Given the description of an element on the screen output the (x, y) to click on. 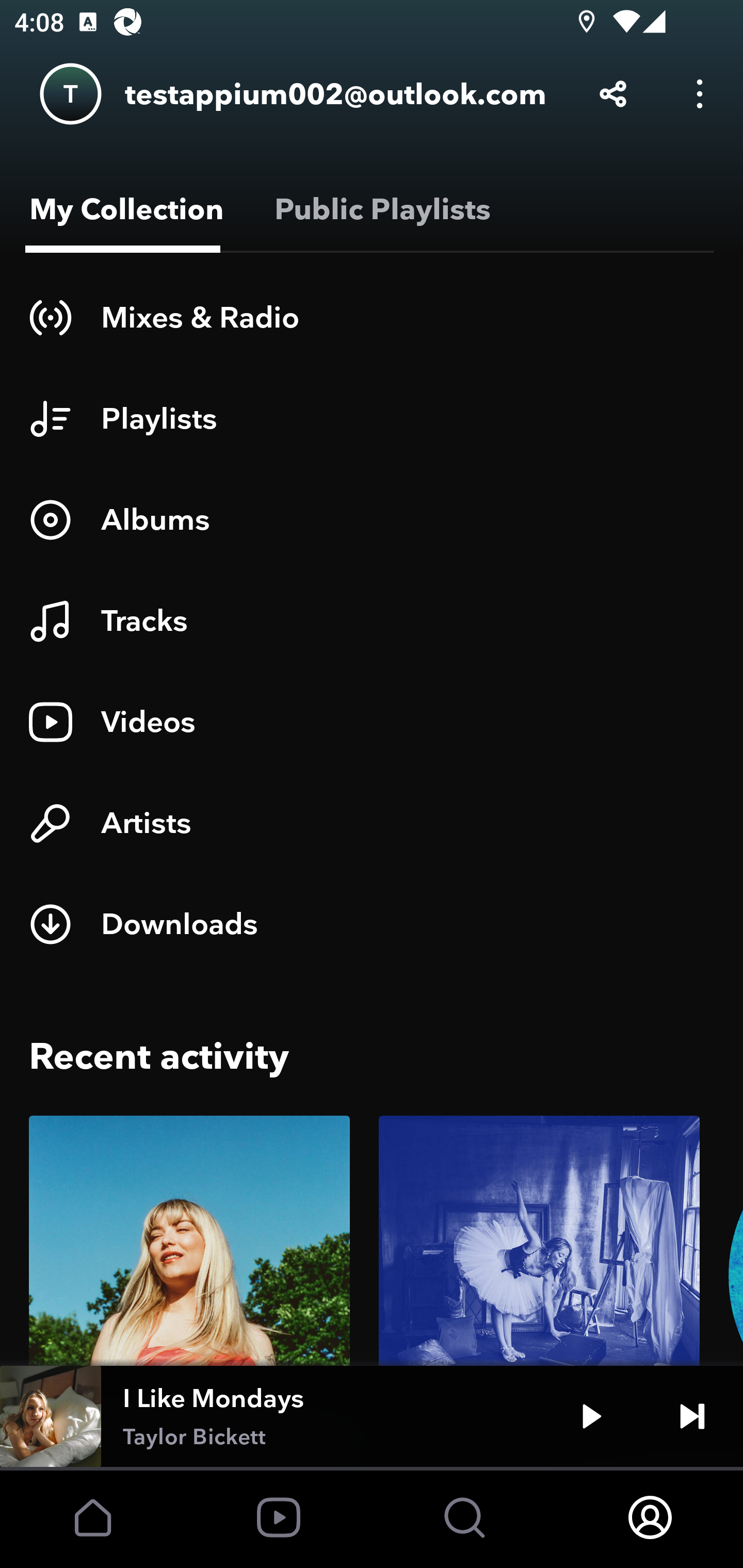
Share (612, 93)
Options (699, 93)
Public Playlists (378, 209)
Mixes & Radio (371, 317)
Playlists (371, 418)
Albums (371, 519)
Tracks (371, 620)
Videos (371, 722)
Artists (371, 823)
Downloads (371, 924)
I Like Mondays Taylor Bickett Play (371, 1416)
Play (590, 1416)
